Given the description of an element on the screen output the (x, y) to click on. 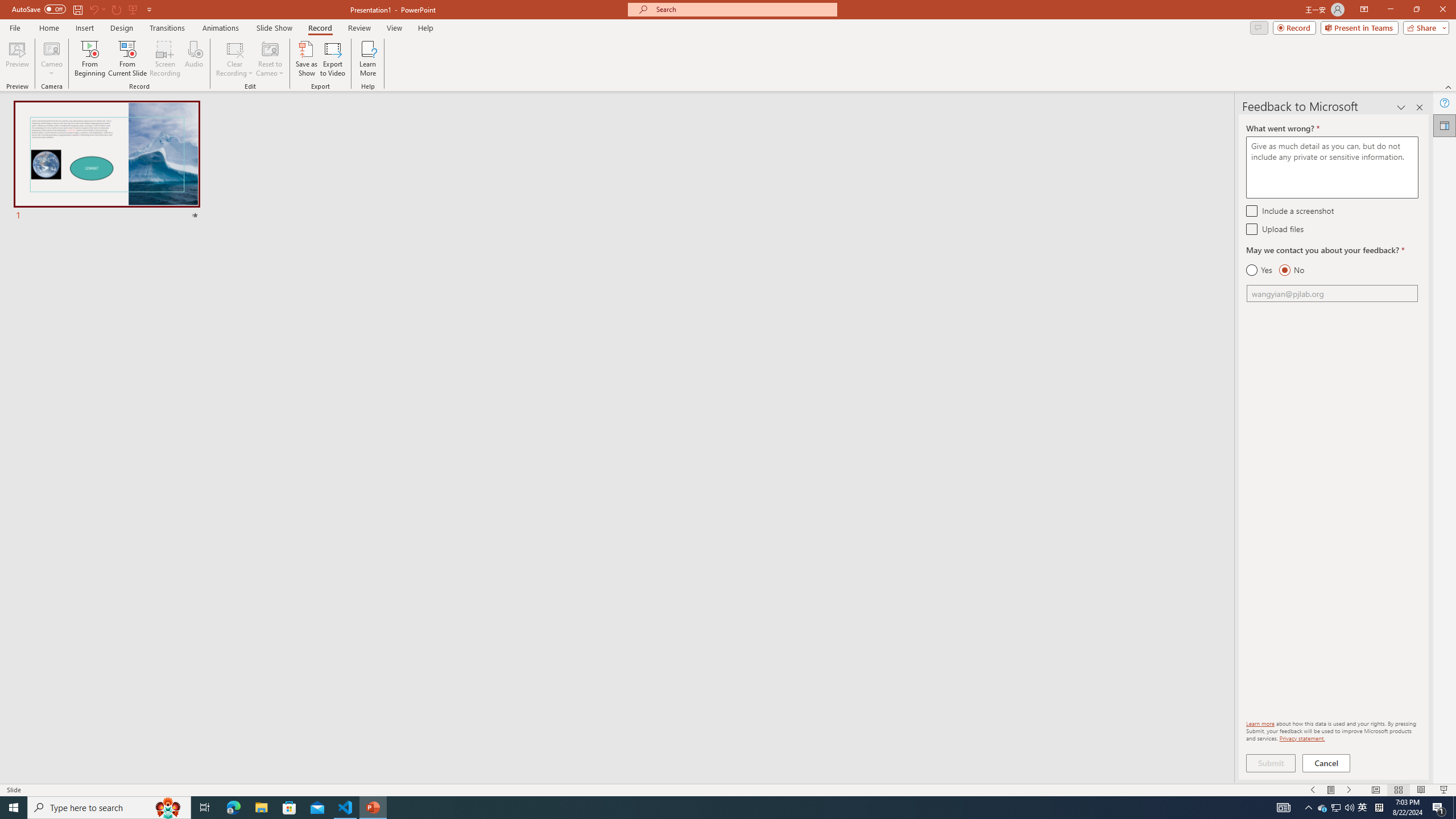
What went wrong? * (1332, 167)
Slide Show Previous On (1313, 790)
Feedback to Microsoft (1444, 125)
Menu On (1331, 790)
